Given the description of an element on the screen output the (x, y) to click on. 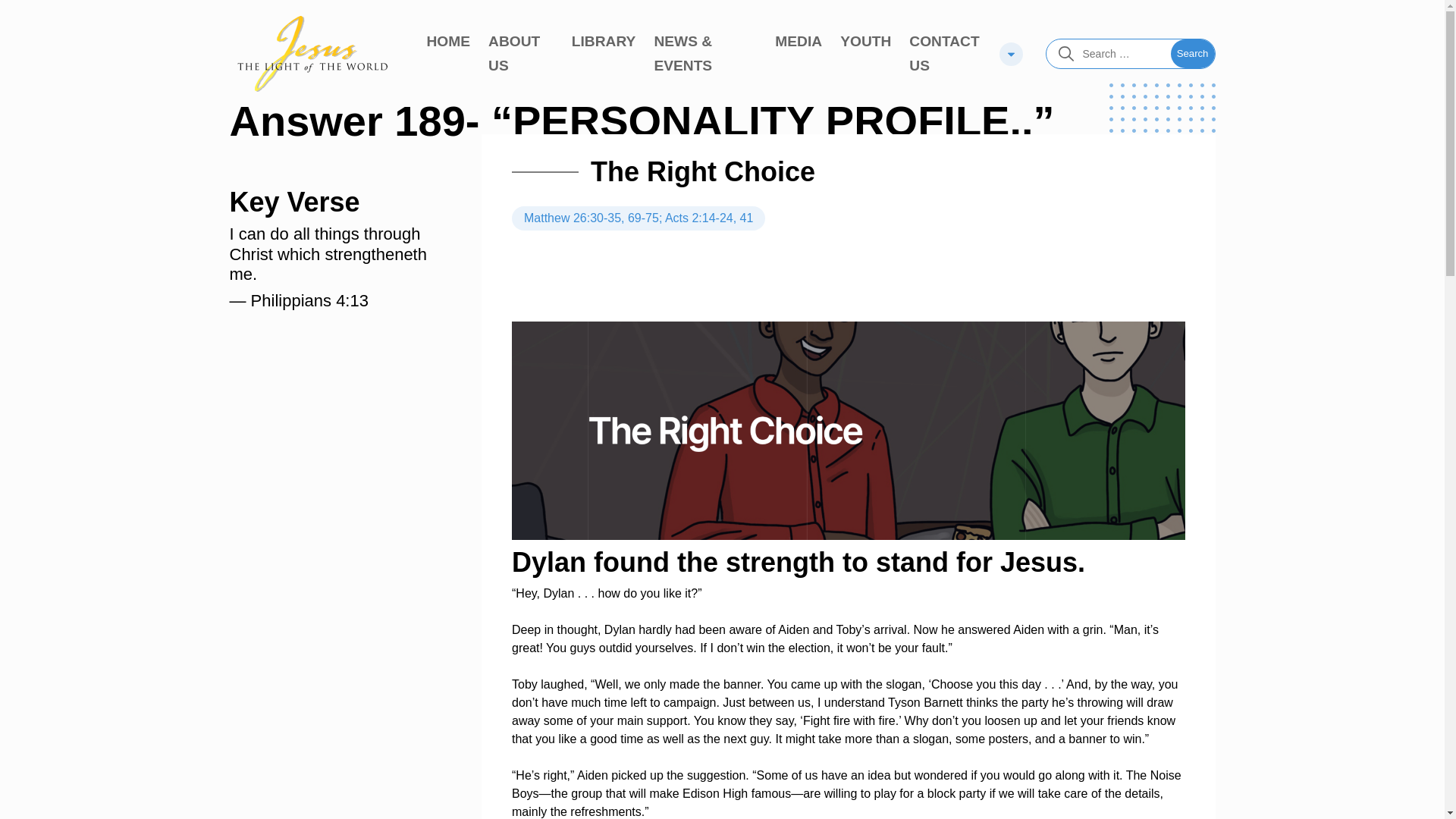
Search (1192, 53)
Search (1192, 53)
YOUTH (865, 41)
Search (1192, 53)
LIBRARY (604, 41)
HOME (448, 41)
MEDIA (798, 41)
ABOUT US (520, 53)
CONTACT US (949, 53)
